Given the description of an element on the screen output the (x, y) to click on. 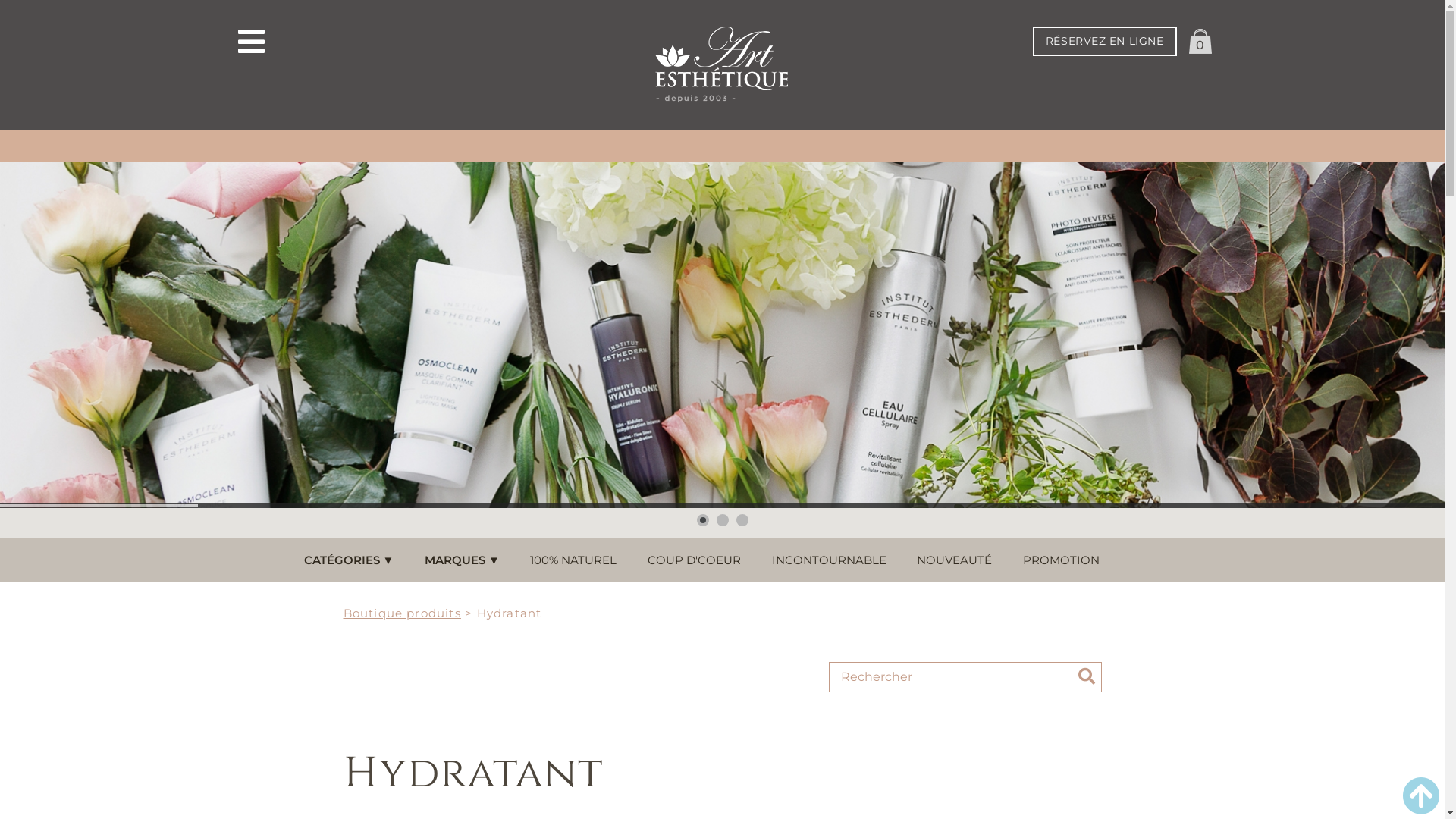
PROMOTION Element type: text (1061, 560)
Boutique produits Element type: text (401, 612)
COUP D'COEUR Element type: text (693, 560)
100% NATUREL Element type: text (573, 560)
INCONTOURNABLE Element type: text (829, 560)
